Given the description of an element on the screen output the (x, y) to click on. 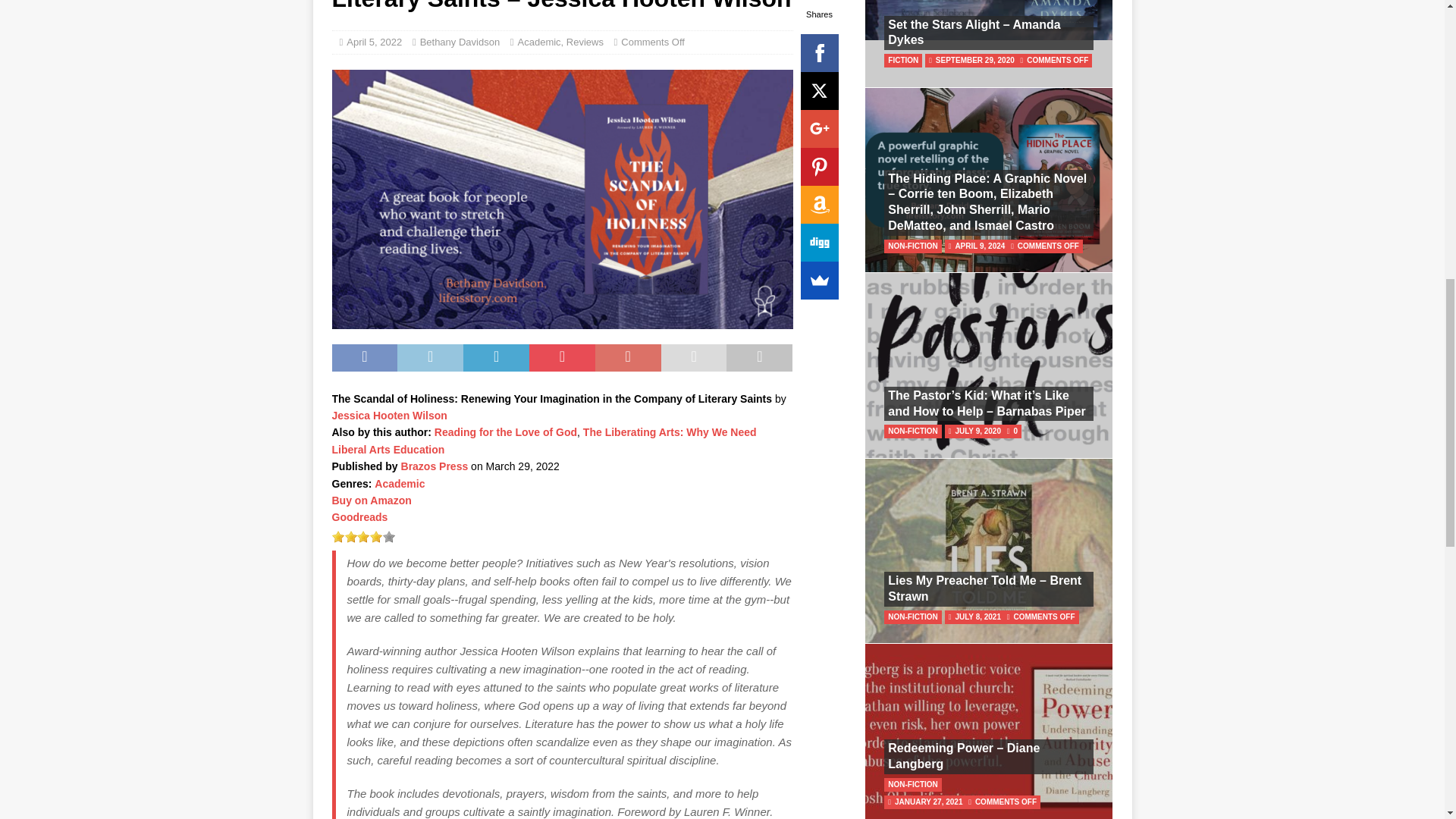
Amazon Wishlist (819, 204)
X (819, 90)
Digg (819, 242)
SumoMe (819, 280)
Facebook (819, 53)
Pinterest (819, 166)
The Scandal of Holiness Jessica Hooten Wilson (562, 199)
